Given the description of an element on the screen output the (x, y) to click on. 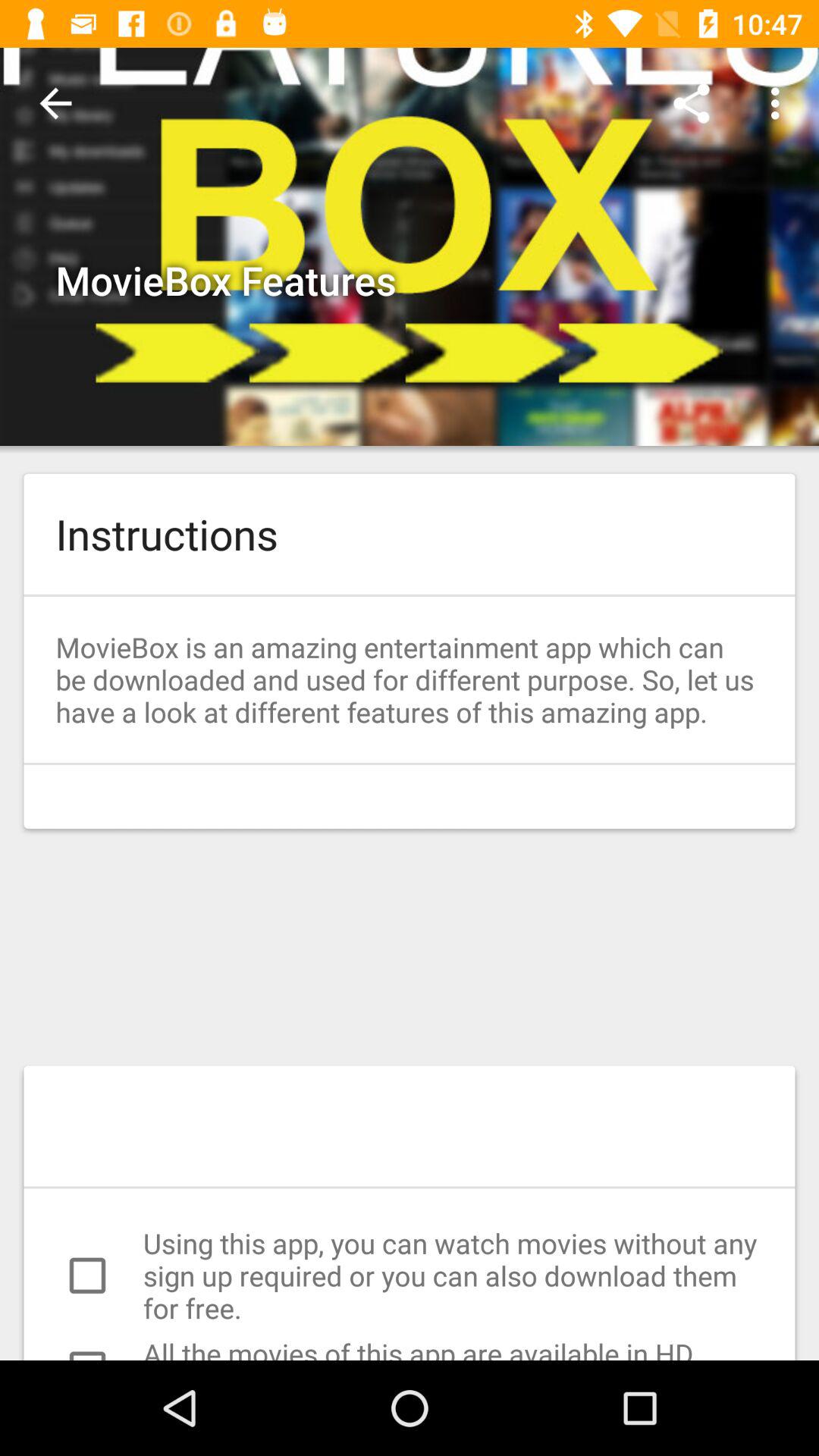
choose the item above moviebox features (55, 103)
